Given the description of an element on the screen output the (x, y) to click on. 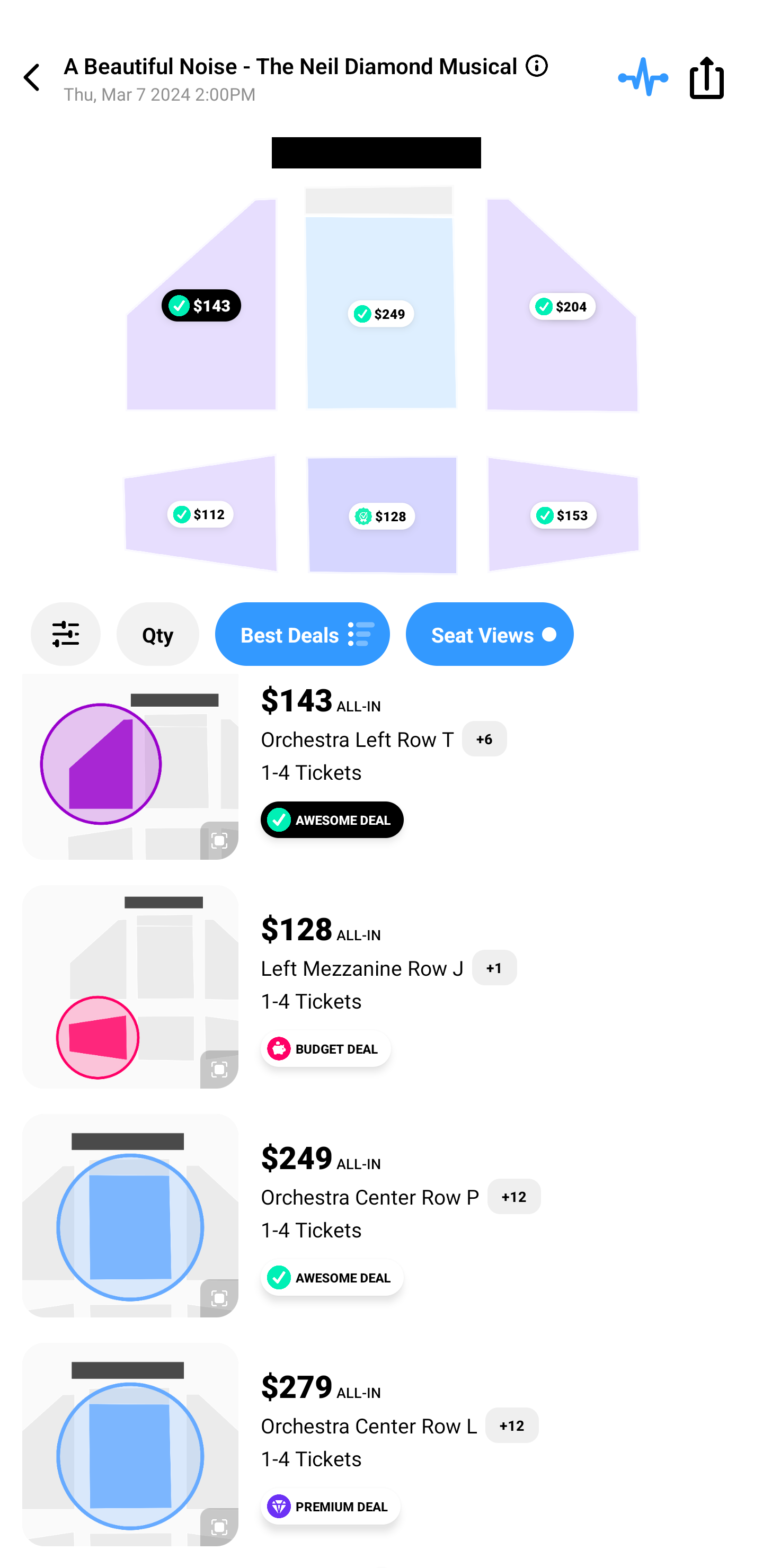
$249 (380, 313)
Qty (157, 634)
Best Deals (302, 634)
Seat Views (489, 634)
+6 (484, 738)
AWESOME DEAL (331, 819)
+1 (494, 967)
BUDGET DEAL (325, 1048)
+12 (513, 1196)
AWESOME DEAL (331, 1277)
+12 (511, 1425)
PREMIUM DEAL (330, 1506)
